Given the description of an element on the screen output the (x, y) to click on. 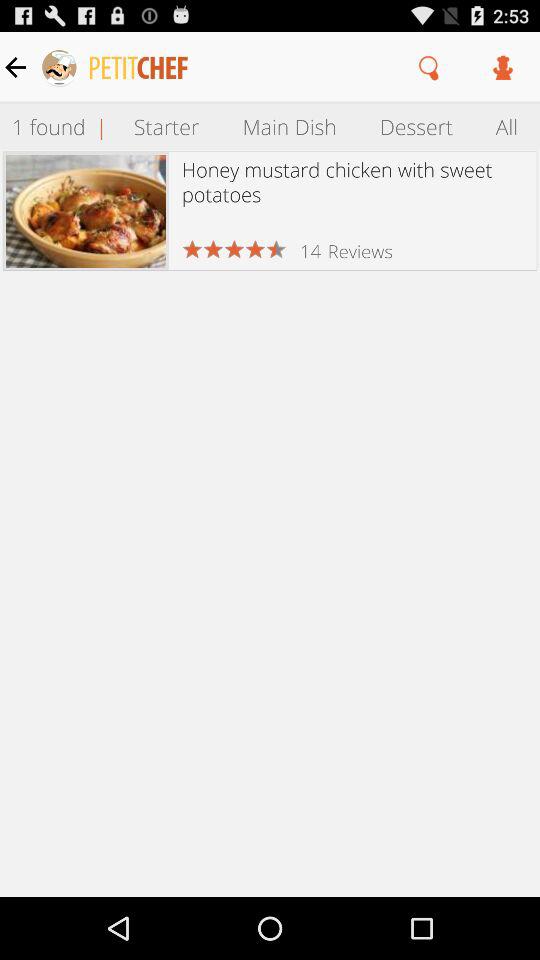
click icon above dessert (429, 67)
